Given the description of an element on the screen output the (x, y) to click on. 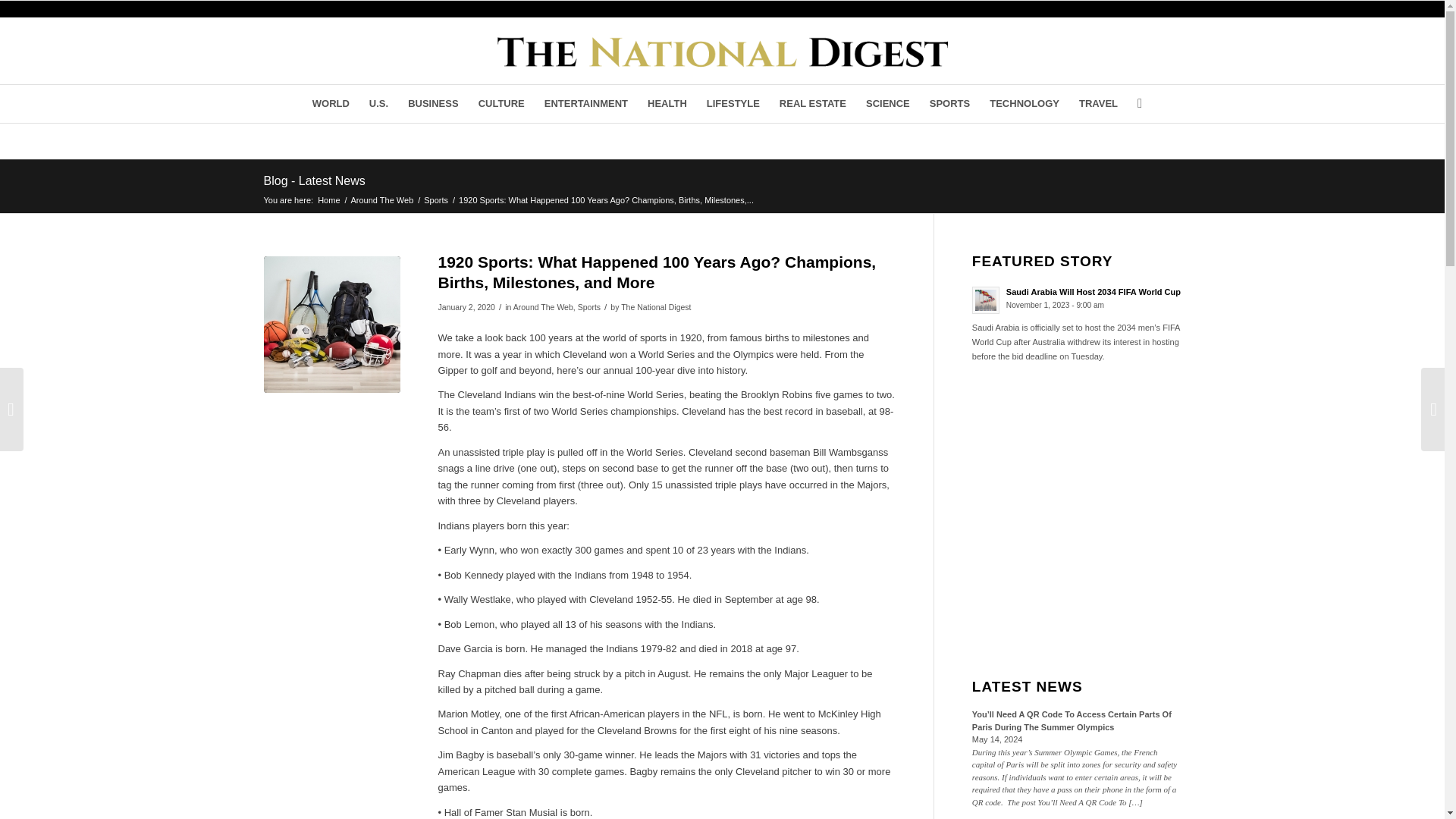
Permanent Link: Blog - Latest News (314, 180)
Around The Web (382, 199)
Home (328, 199)
Posts by The National Digest (655, 307)
WORLD (330, 103)
HEALTH (667, 103)
Sports Equipment (331, 324)
LIFESTYLE (733, 103)
U.S. (378, 103)
Sports (435, 199)
The National Digest (328, 199)
SPORTS (949, 103)
ENTERTAINMENT (585, 103)
BUSINESS (432, 103)
TECHNOLOGY (1023, 103)
